Given the description of an element on the screen output the (x, y) to click on. 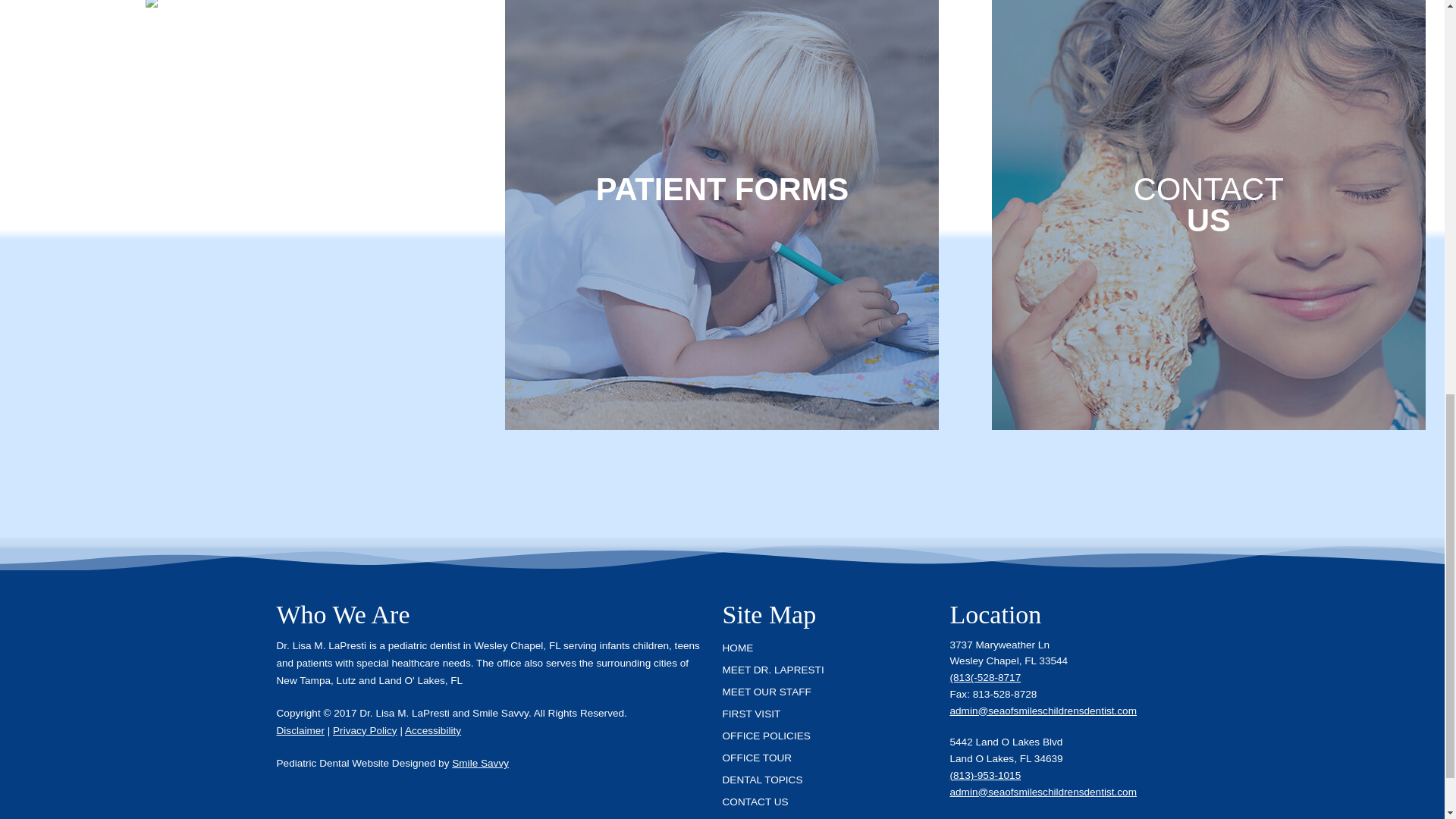
Facebook (962, 816)
